Given the description of an element on the screen output the (x, y) to click on. 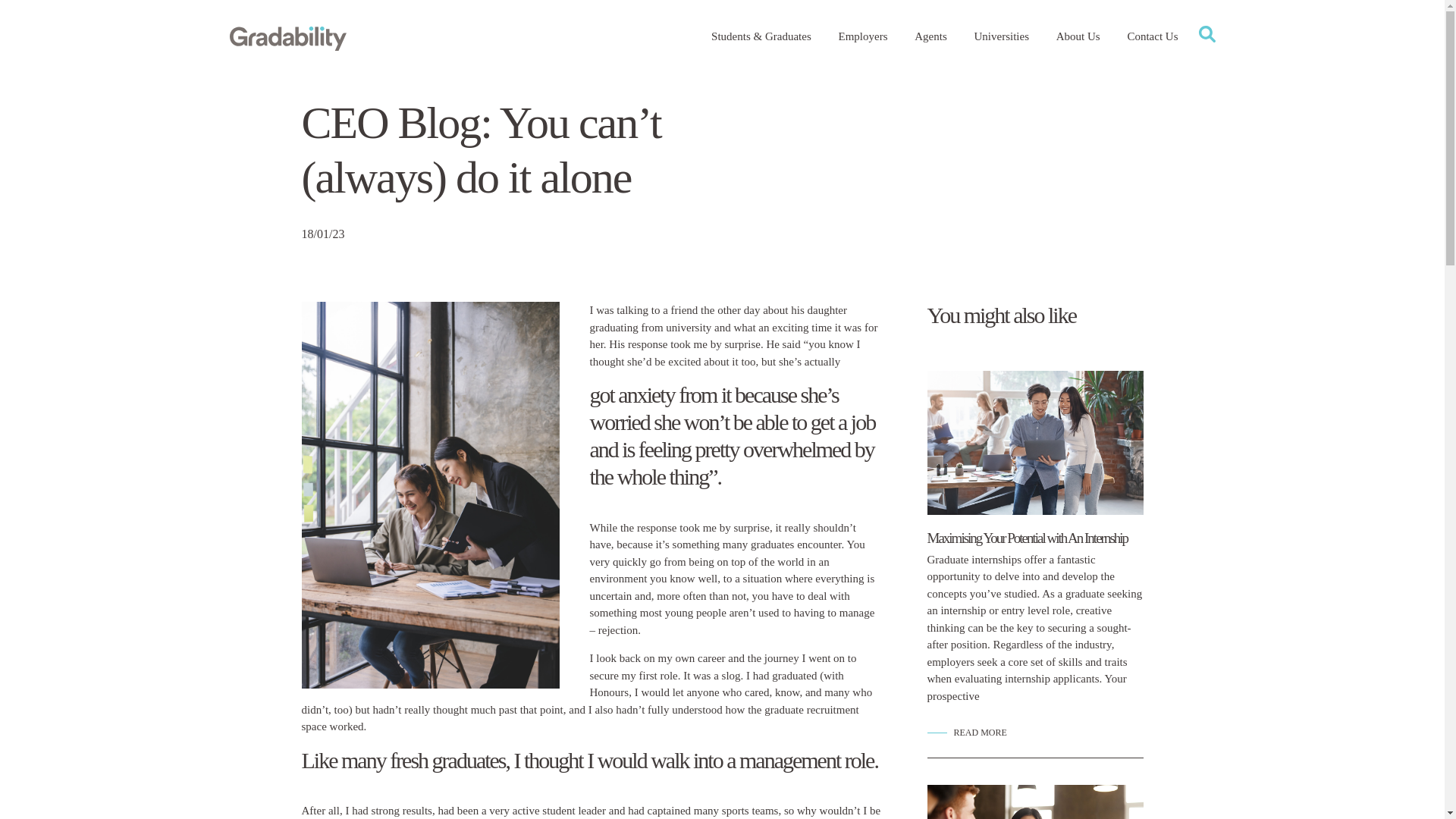
Universities (1002, 36)
READ MORE (966, 732)
Agents (930, 36)
Search (1052, 84)
Home (287, 36)
Contact Us (1151, 36)
About Us (1077, 36)
Maximising Your Potential with An Internship (1026, 537)
Employers (862, 36)
